Given the description of an element on the screen output the (x, y) to click on. 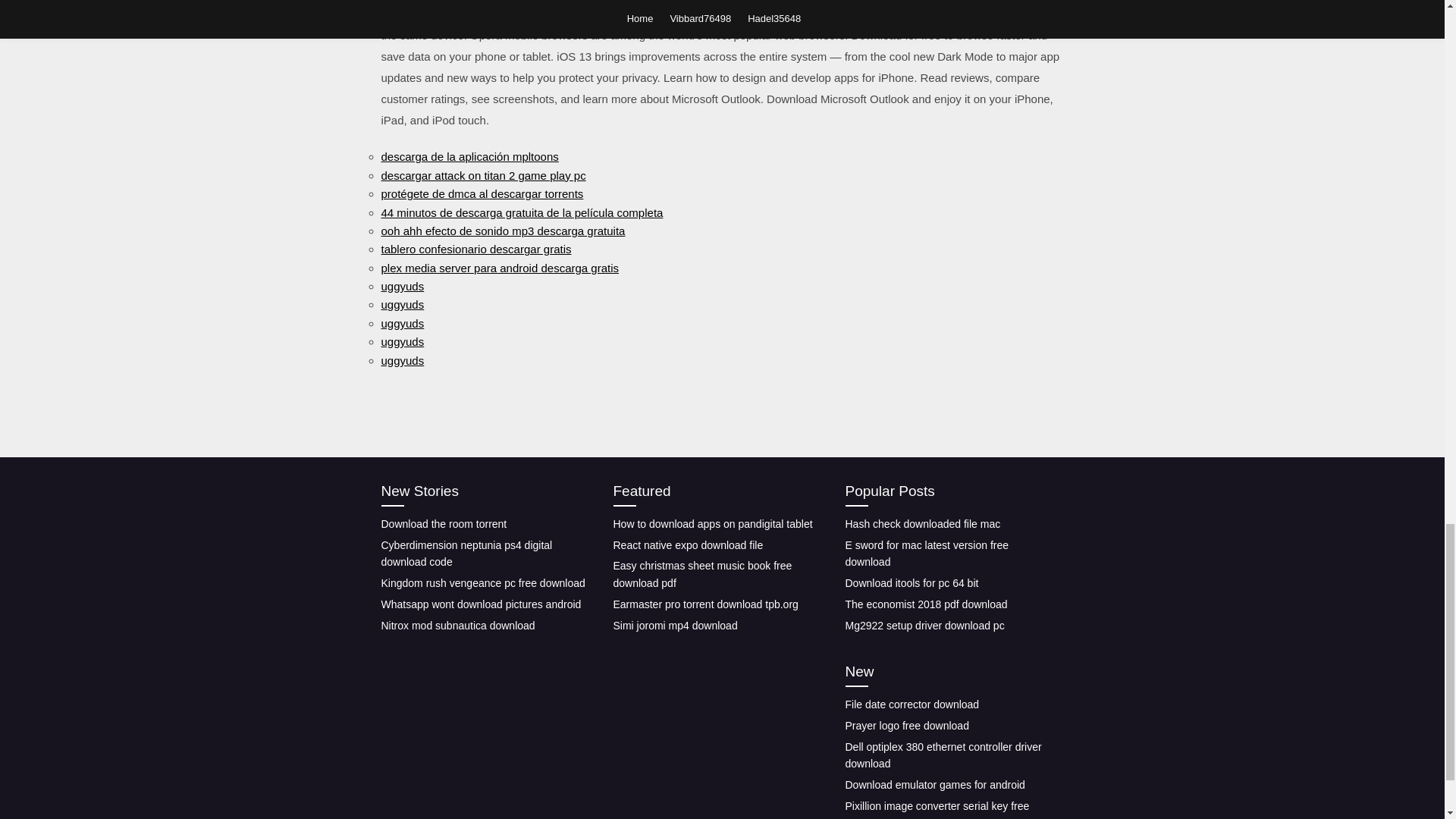
Download emulator games for android (934, 784)
E sword for mac latest version free download (926, 553)
uggyuds (401, 341)
File date corrector download (911, 704)
The economist 2018 pdf download (925, 604)
Download the room torrent (443, 523)
Earmaster pro torrent download tpb.org (704, 604)
ooh ahh efecto de sonido mp3 descarga gratuita (502, 230)
Easy christmas sheet music book free download pdf (702, 573)
Cyberdimension neptunia ps4 digital download code (465, 553)
How to download apps on pandigital tablet (712, 523)
Hash check downloaded file mac (922, 523)
Kingdom rush vengeance pc free download (482, 582)
Whatsapp wont download pictures android (480, 604)
uggyuds (401, 286)
